Given the description of an element on the screen output the (x, y) to click on. 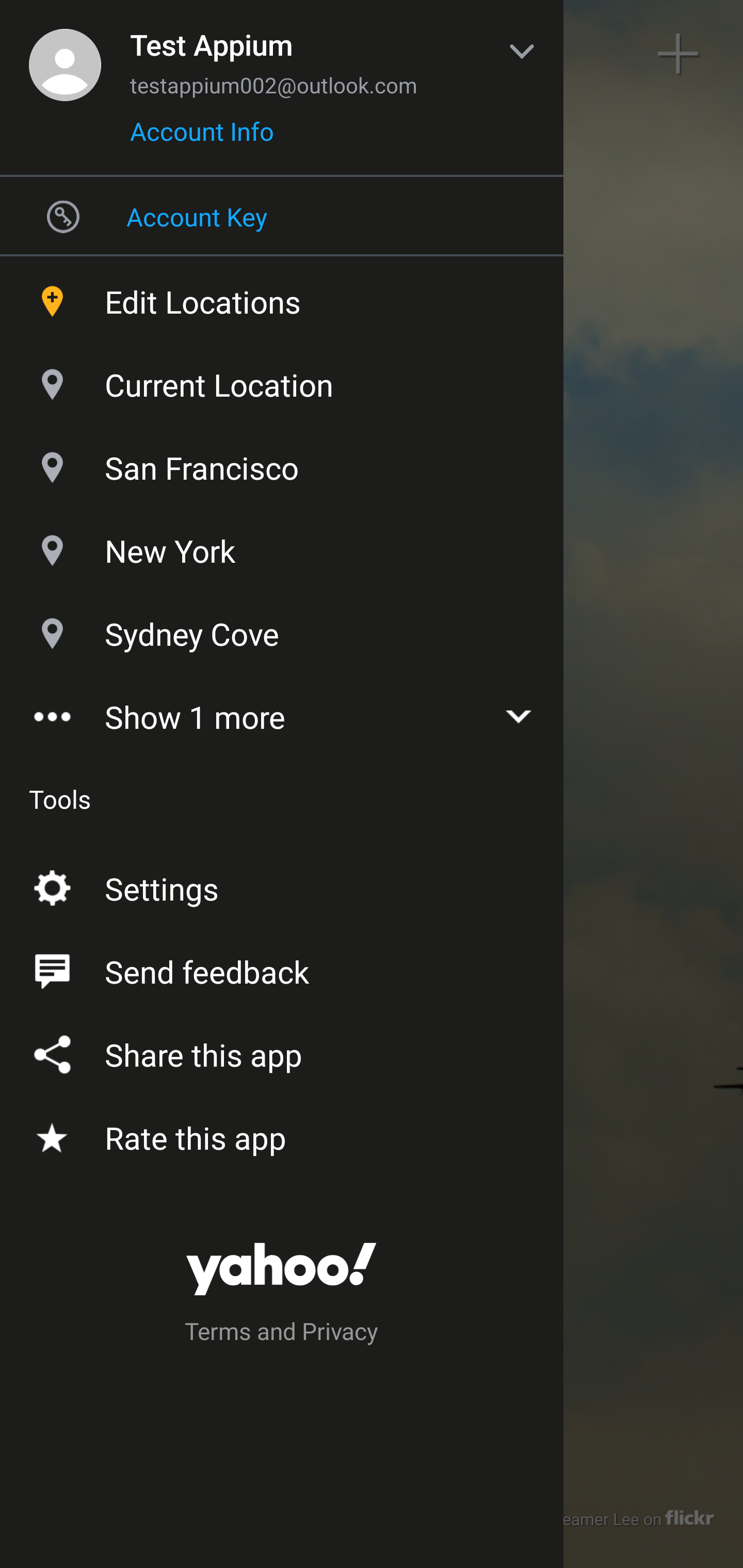
Sidebar (64, 54)
Account Info (202, 137)
Account Key (281, 216)
Edit Locations (281, 296)
Current Location (281, 379)
San Francisco (281, 462)
New York (281, 546)
Sydney Cove (281, 629)
Settings (281, 884)
Send feedback (281, 967)
Share this app (281, 1050)
Terms and Privacy Terms and privacy button (281, 1334)
